Given the description of an element on the screen output the (x, y) to click on. 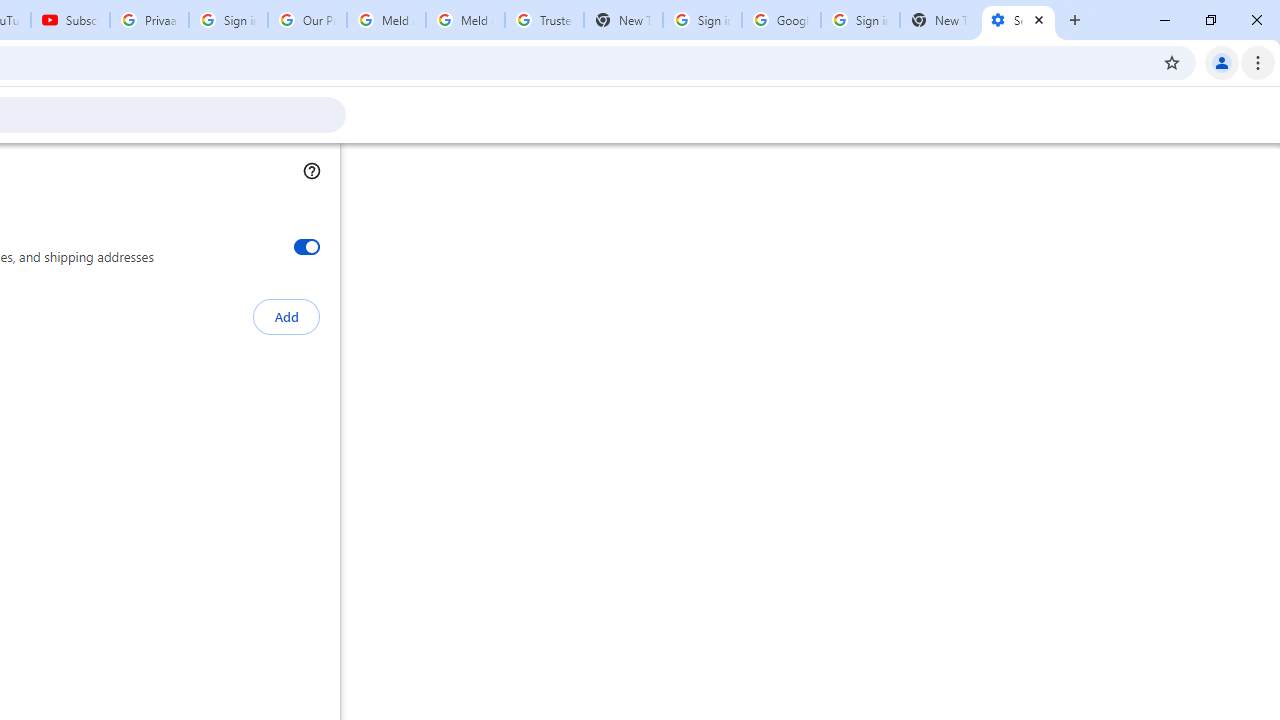
Next (136, 126)
